Given the description of an element on the screen output the (x, y) to click on. 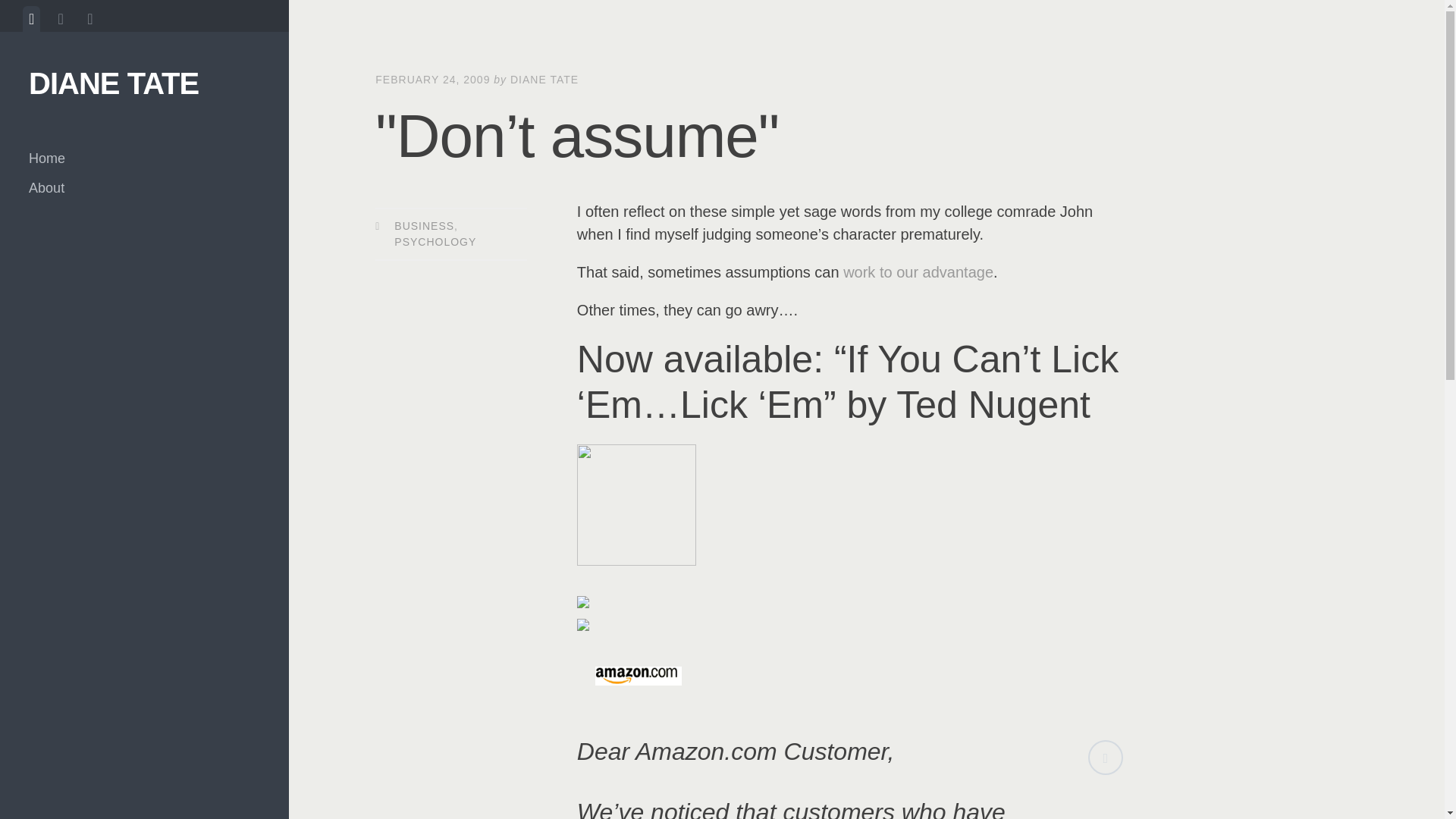
PSYCHOLOGY (435, 241)
BUSINESS (424, 225)
DIANE TATE (544, 79)
DIANE TATE (113, 82)
FEBRUARY 24, 2009 (432, 79)
Home (144, 158)
About (144, 188)
work to our advantage (917, 271)
